Given the description of an element on the screen output the (x, y) to click on. 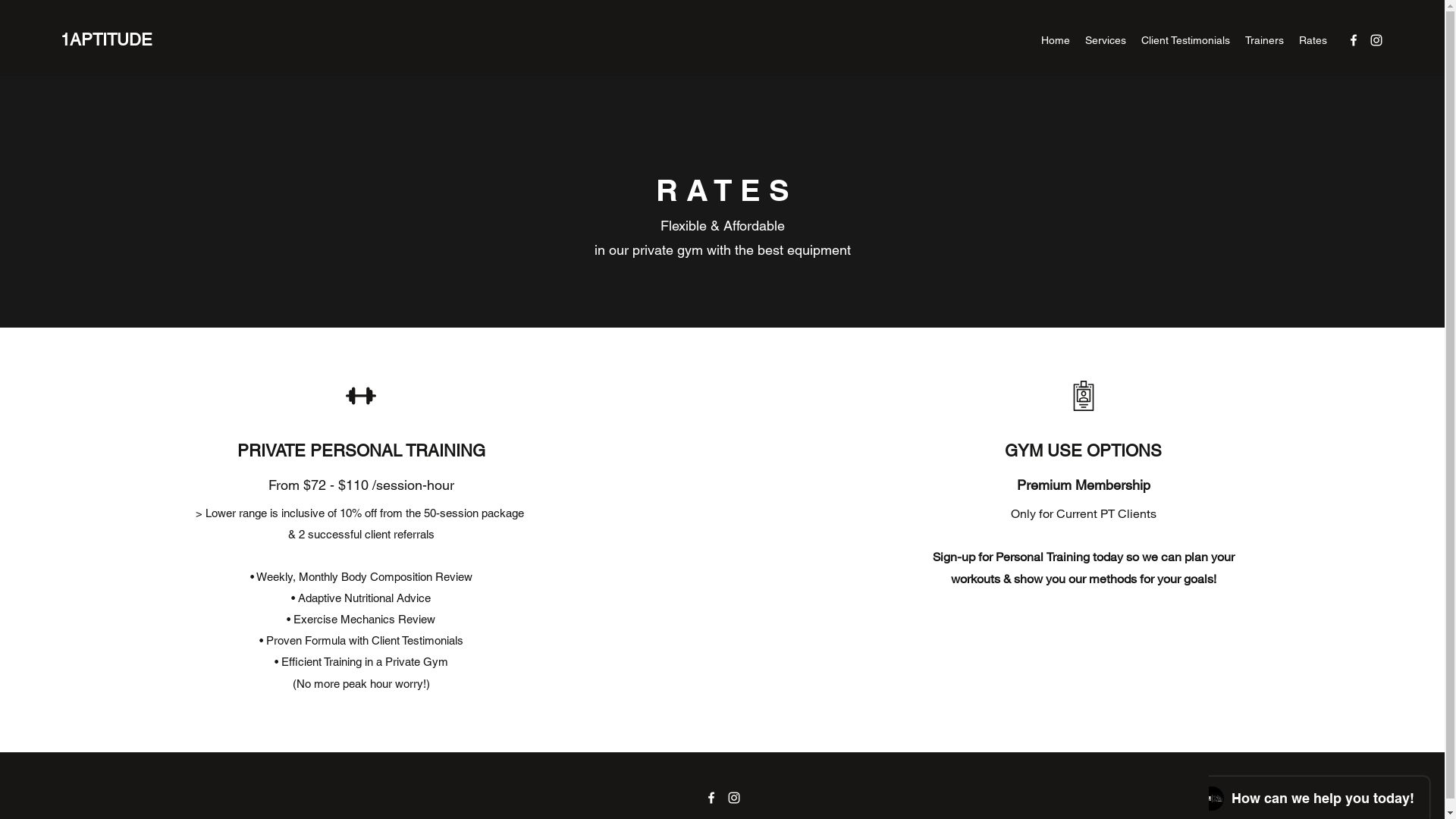
Services Element type: text (1105, 39)
Trainers Element type: text (1264, 39)
Rates Element type: text (1312, 39)
Home Element type: text (1055, 39)
Client Testimonials Element type: text (1185, 39)
